Given the description of an element on the screen output the (x, y) to click on. 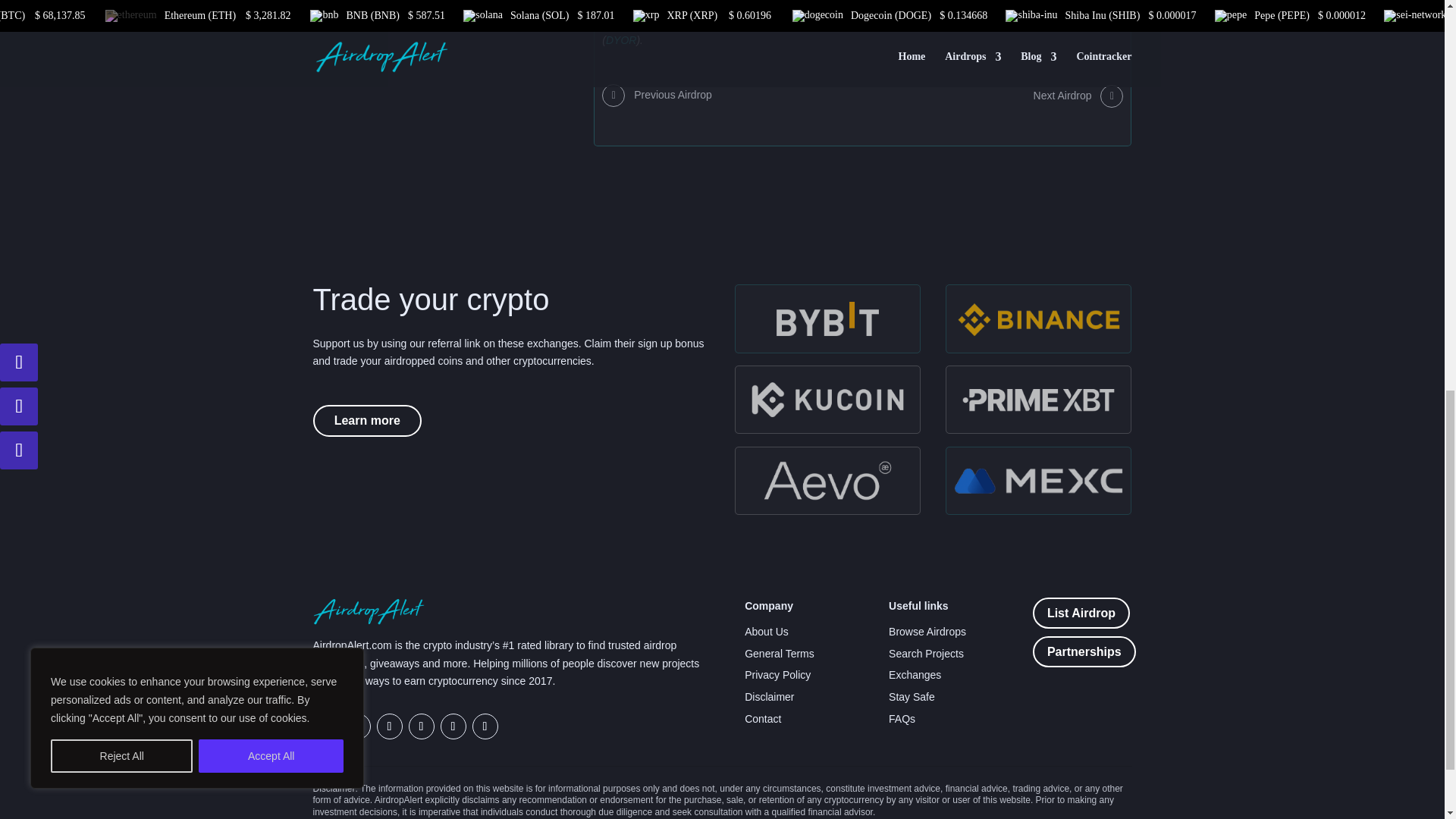
Airdropalert-Binance-logo (1038, 318)
Follow on Facebook (388, 726)
Follow on Youtube (452, 726)
mexc-logo-airdropalert (1038, 480)
Follow on Telegram (325, 726)
Follow on X (356, 726)
Follow on Instagram (420, 726)
prime-xbt-logo-airdropalert (1038, 399)
Follow on LinkedIn (484, 726)
AA-logos-exchanges-kucoin (827, 399)
AA-logos-aevo (827, 480)
airdropalert-bybit-logo (827, 318)
airdrop-alert-logo (369, 611)
